Given the description of an element on the screen output the (x, y) to click on. 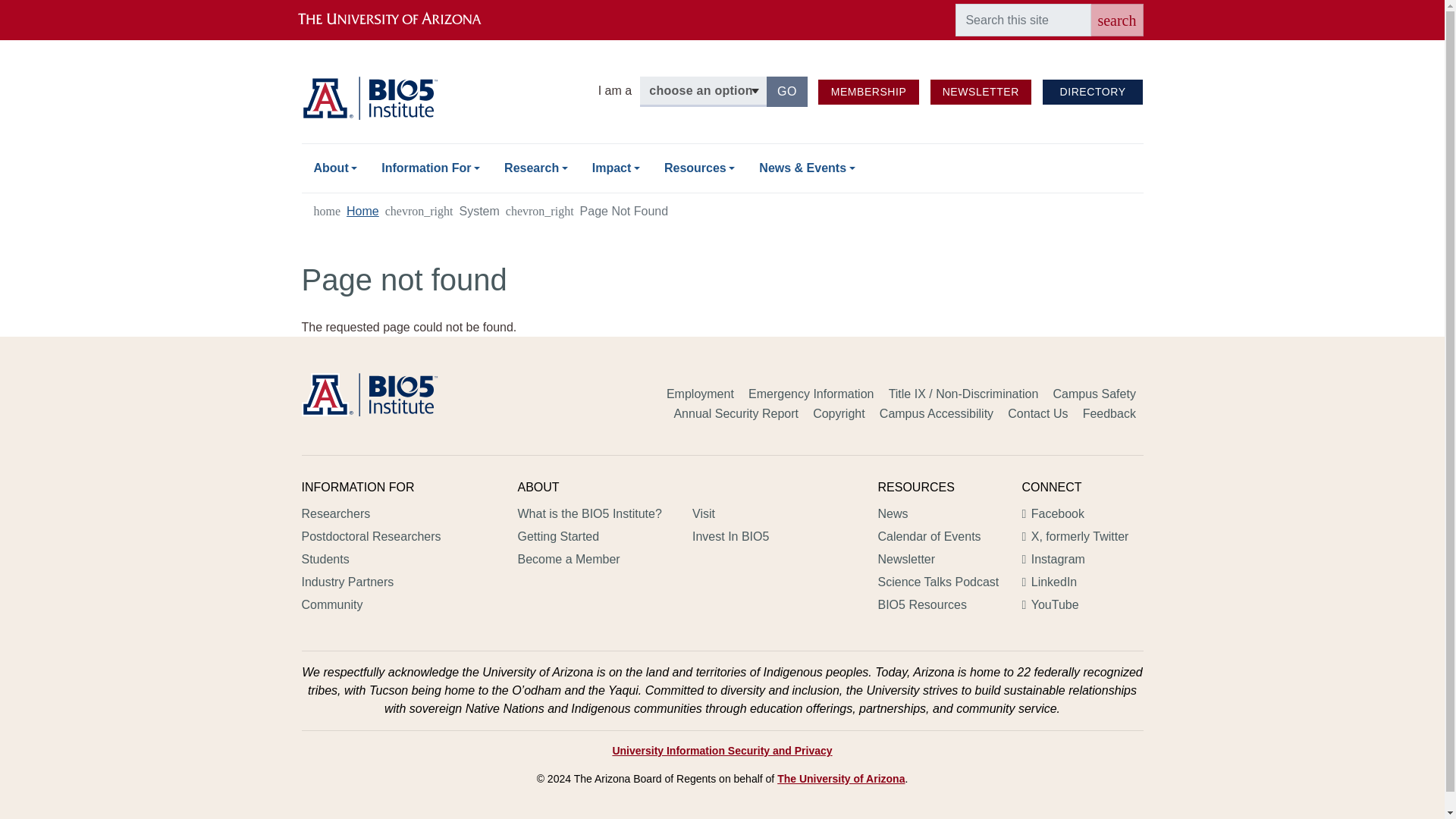
The University of Arizona homepage (401, 20)
Enter the terms you wish to search for. (1022, 20)
MEMBERSHIP (868, 91)
search (787, 91)
About (1116, 20)
Resources (335, 168)
DIRECTORY (699, 168)
Information For (1092, 91)
Become a Member (430, 168)
Impact (868, 91)
Skip to main content (615, 168)
NEWSLETTER (721, 1)
Research (980, 91)
